Given the description of an element on the screen output the (x, y) to click on. 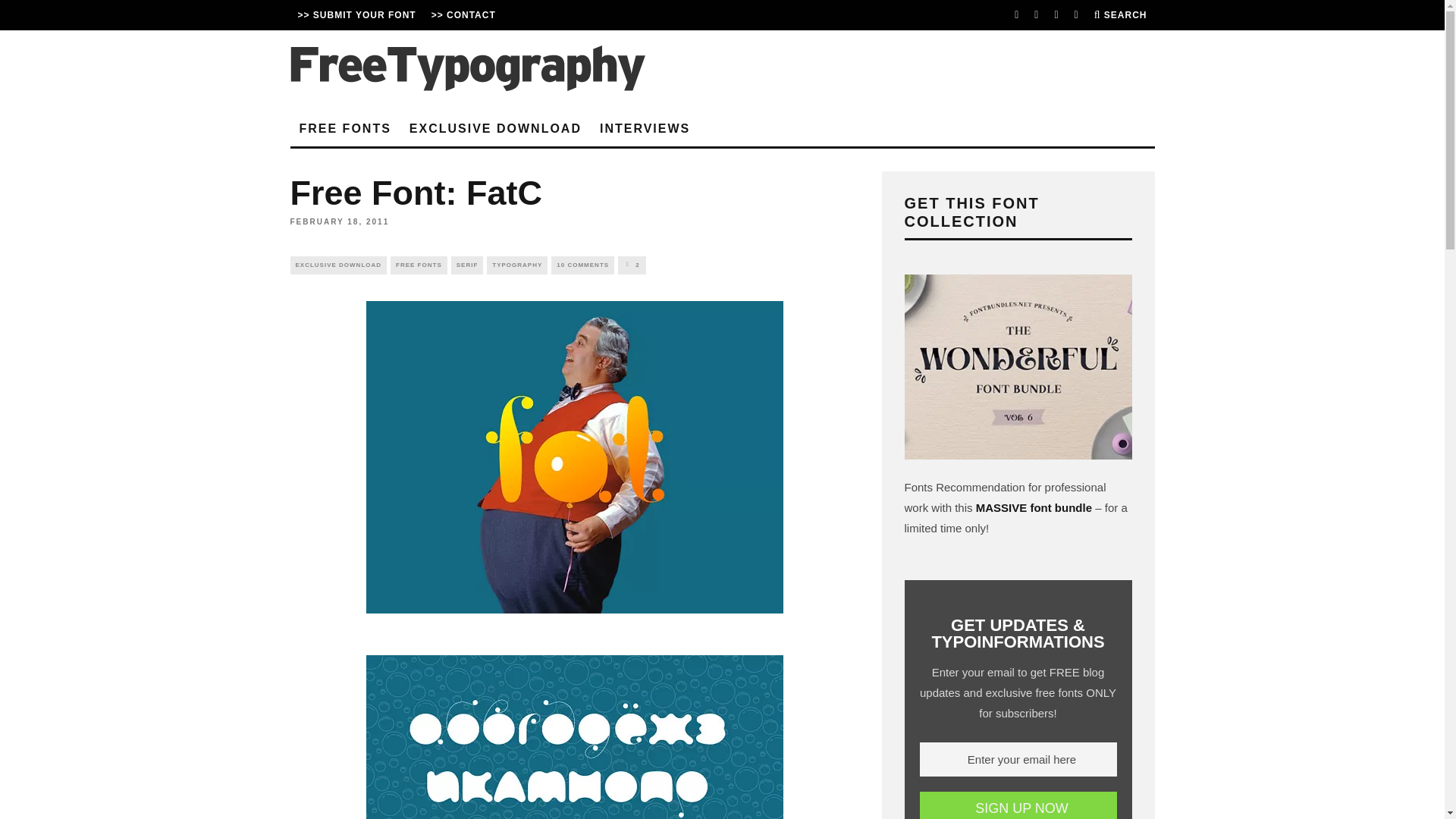
Search (1120, 15)
Sign Up Now (1017, 805)
FREE FONTS (343, 129)
View all posts in Exclusive Download (338, 265)
View all posts in Free Fonts (418, 265)
View all posts in Serif (467, 265)
FatC-02 (574, 729)
EXCLUSIVE DOWNLOAD (338, 265)
INTERVIEWS (644, 129)
